Given the description of an element on the screen output the (x, y) to click on. 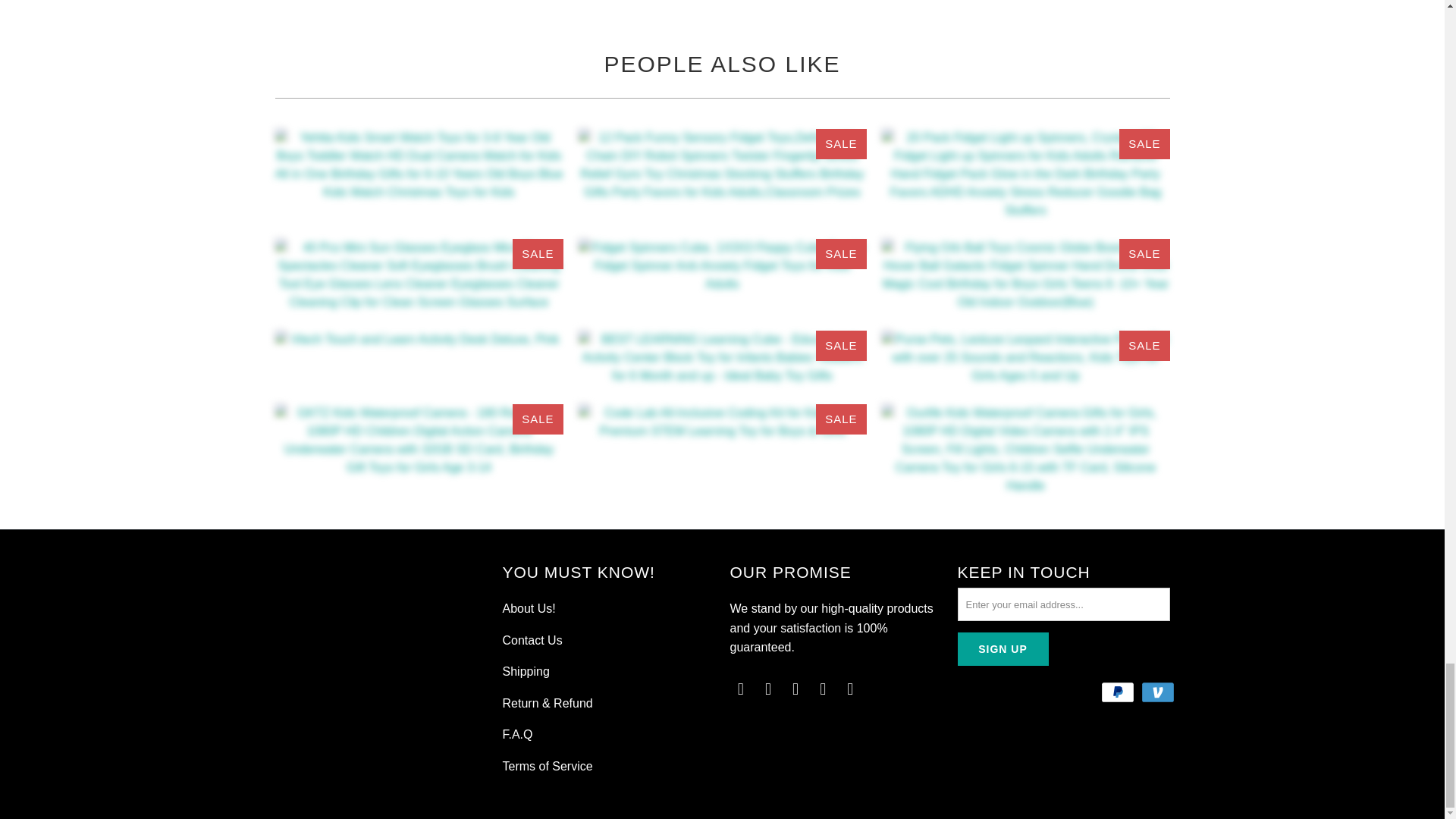
Venmo (1158, 691)
Sign Up (1002, 648)
Galleria Of Deals on Facebook (768, 689)
PayPal (1118, 691)
Galleria Of Deals on Pinterest (796, 689)
Galleria Of Deals on Twitter (740, 689)
Galleria Of Deals on Instagram (823, 689)
